Given the description of an element on the screen output the (x, y) to click on. 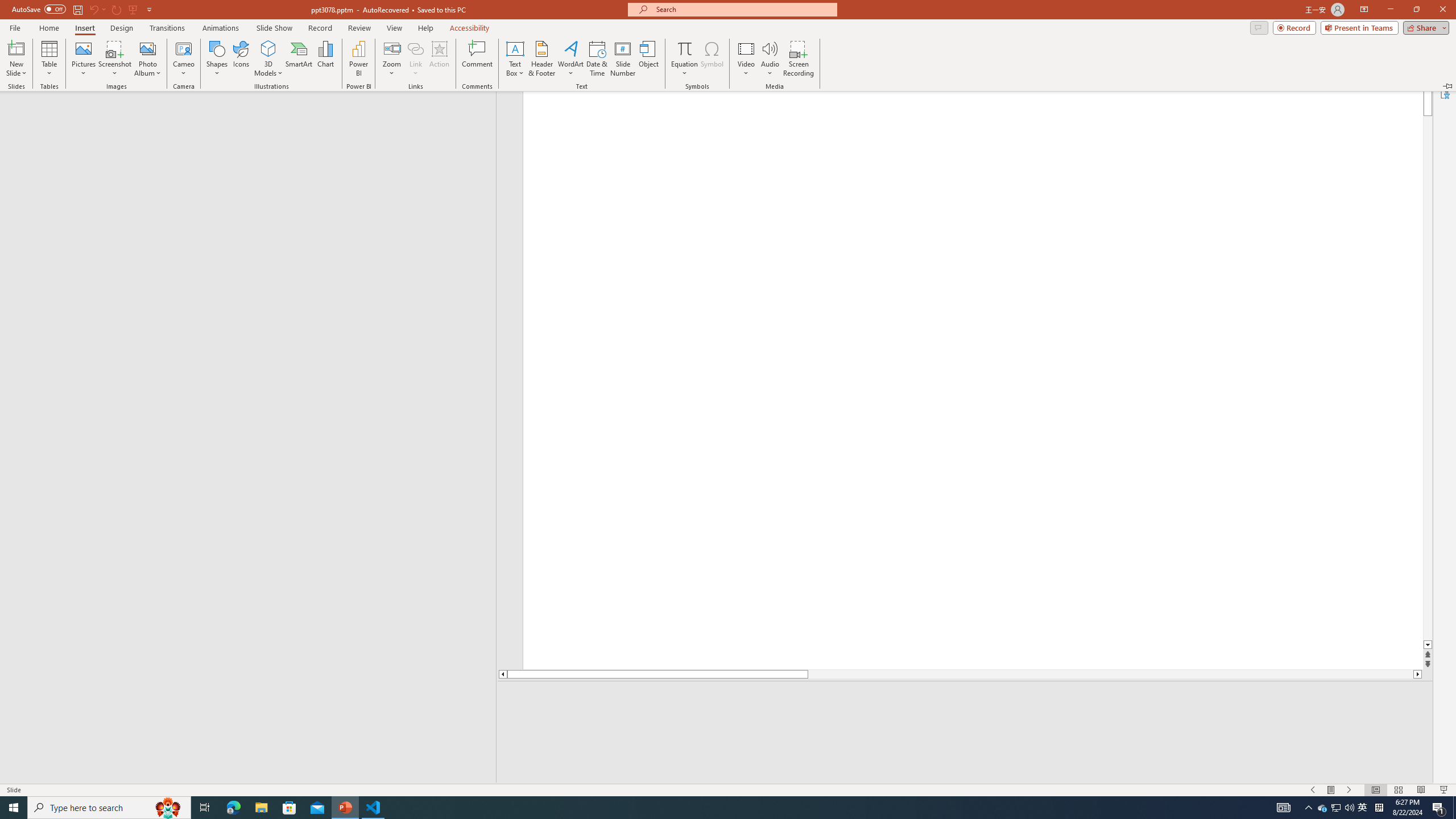
Show desktop (1454, 807)
Tray Input Indicator - Chinese (Simplified, China) (1378, 807)
Class: MsoCommandBar (728, 789)
